Given the description of an element on the screen output the (x, y) to click on. 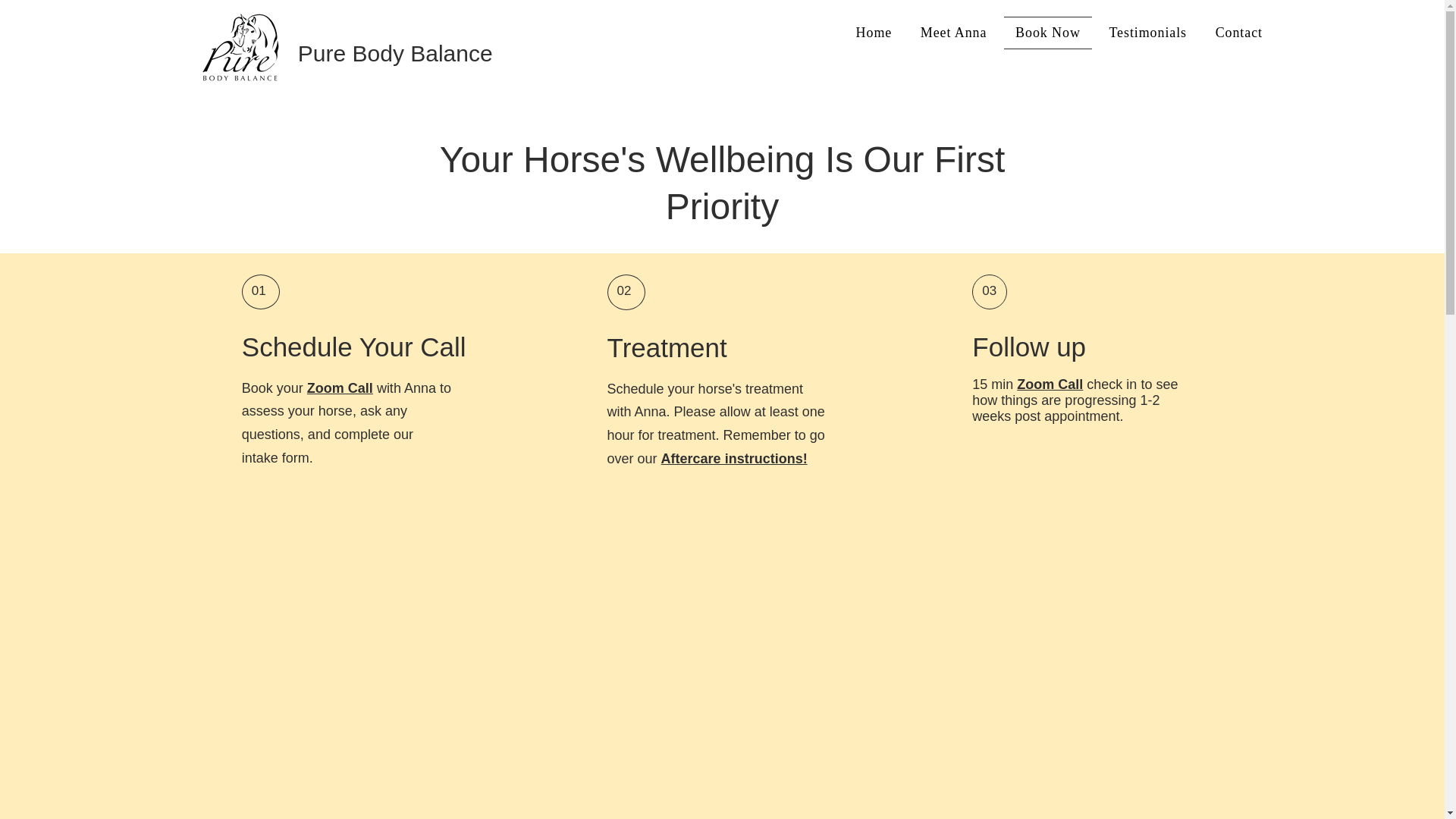
Zoom Call (1049, 384)
Contact (1239, 32)
Meet Anna (952, 32)
Home (873, 32)
Zoom Call (339, 387)
Book Now (1047, 32)
Testimonials (1147, 32)
Pure Body Balance (395, 53)
Aftercare instructions! (734, 458)
